Given the description of an element on the screen output the (x, y) to click on. 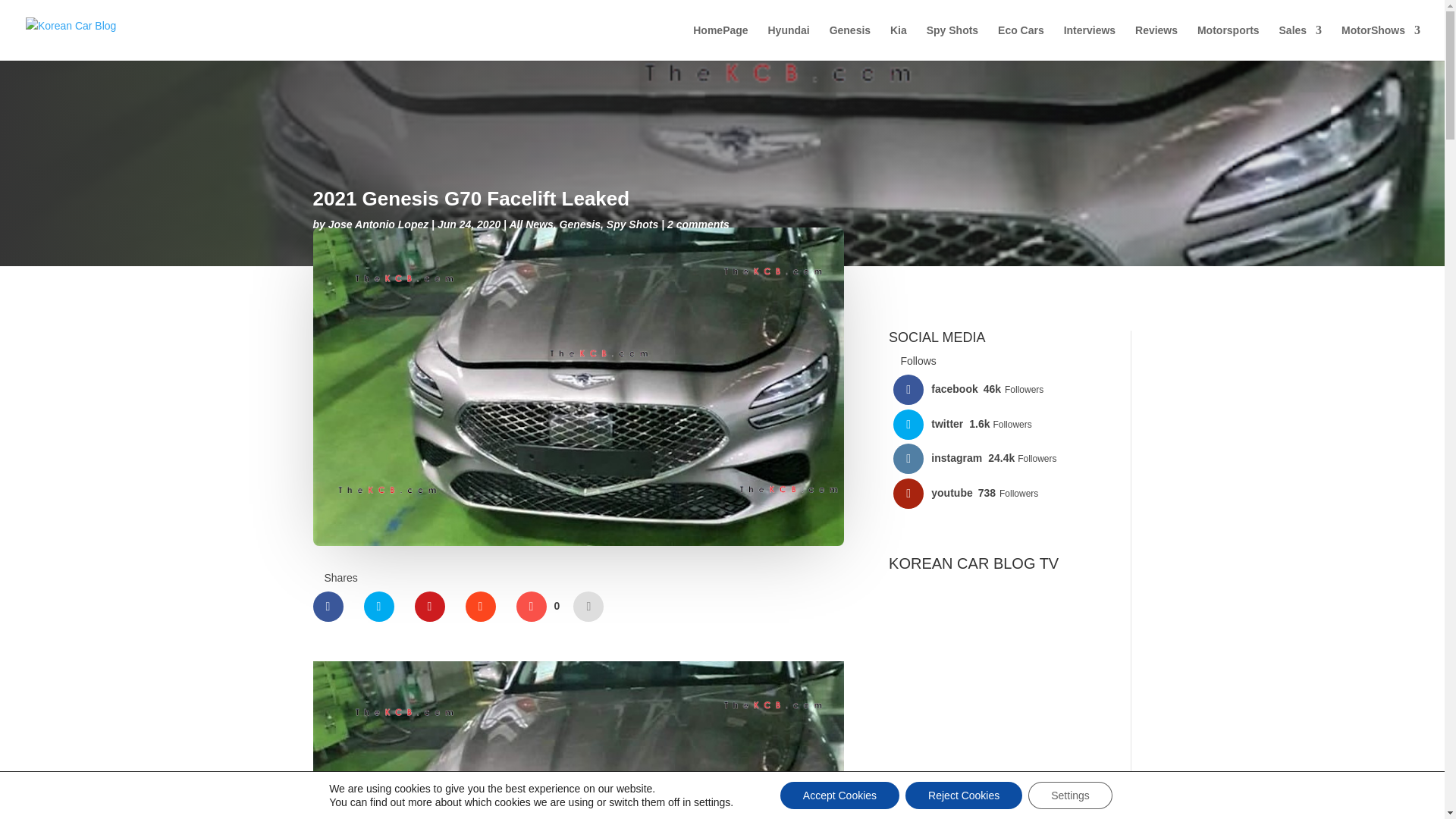
Eco Cars (1020, 42)
Hyundai (788, 42)
HomePage (720, 42)
Spy Shots (952, 42)
Hyundai IONIQ 9 Spied Testing in the Arctic Circle (998, 719)
Motorsports (1227, 42)
Reviews (1156, 42)
Interviews (1089, 42)
Genesis (849, 42)
Home (720, 42)
MotorShows (1380, 42)
Sales (1300, 42)
Posts by Jose Antonio Lopez (378, 224)
